Given the description of an element on the screen output the (x, y) to click on. 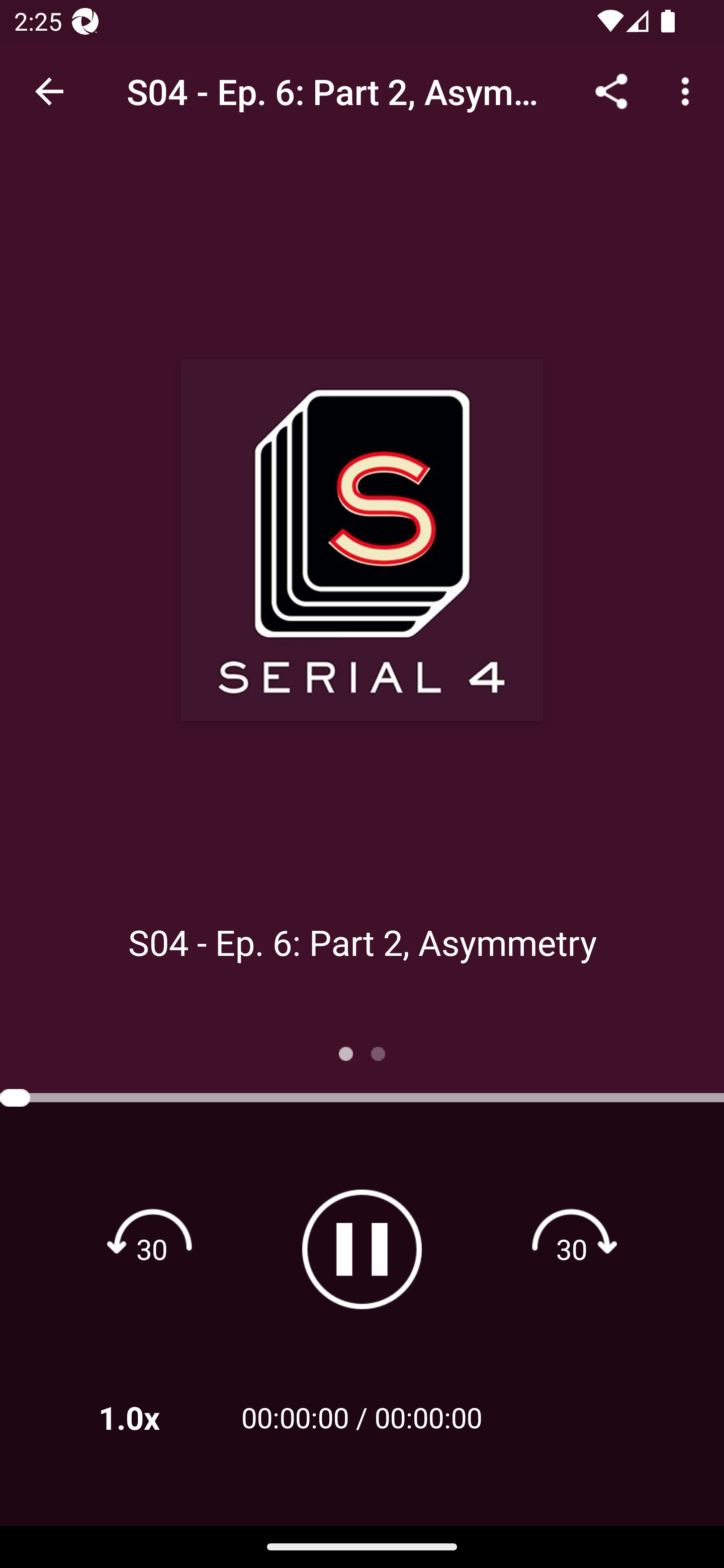
Navigate up (49, 91)
Share... (611, 90)
More options (688, 90)
Pause (361, 1249)
Rewind (151, 1248)
Fast forward (571, 1248)
1.0x Playback Speeds (154, 1417)
00:00:00 (428, 1417)
